Given the description of an element on the screen output the (x, y) to click on. 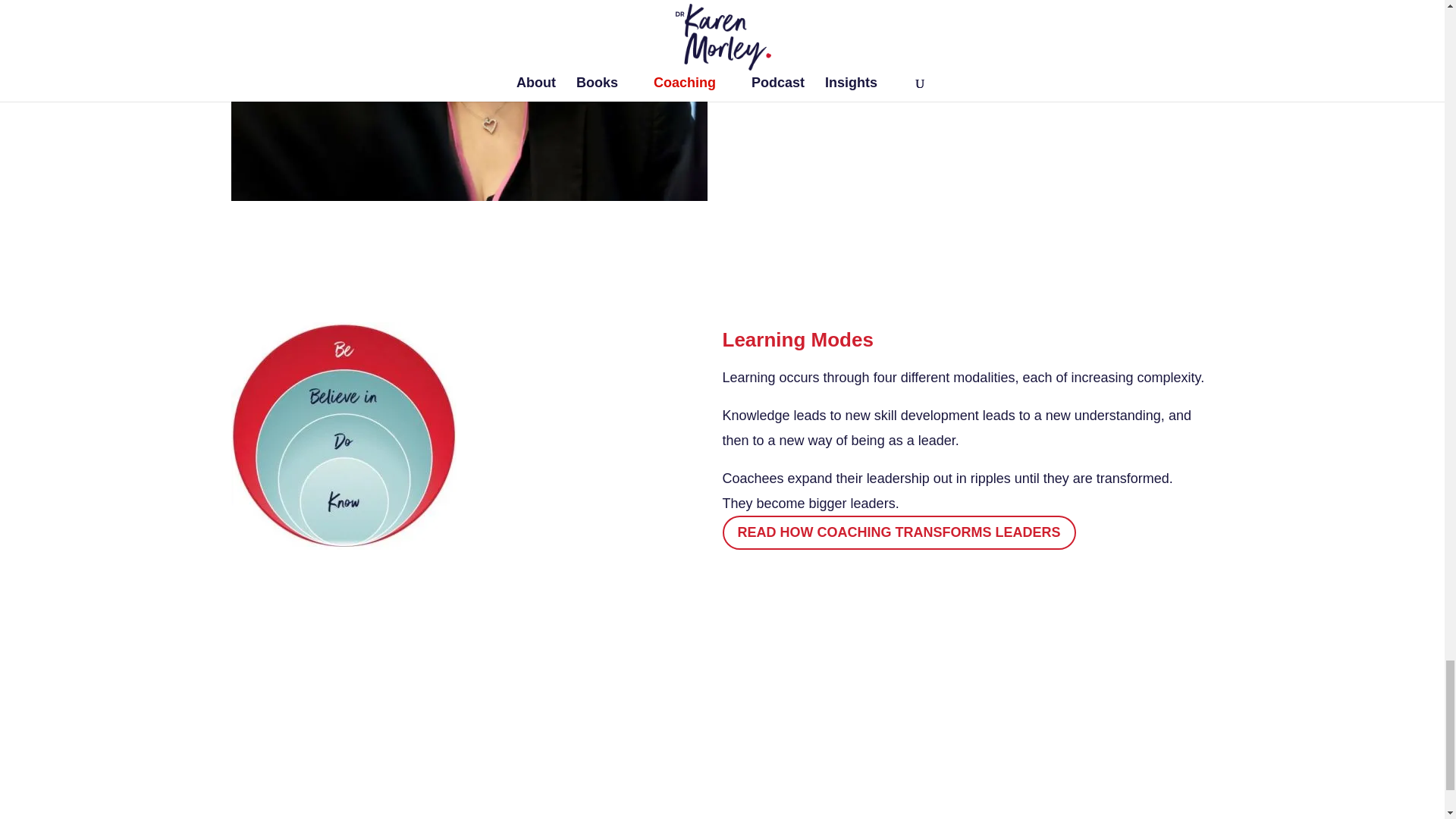
READ HOW COACHING TRANSFORMS LEADERS (898, 532)
Leadership-Coaching-Approach-5 (468, 100)
